Given the description of an element on the screen output the (x, y) to click on. 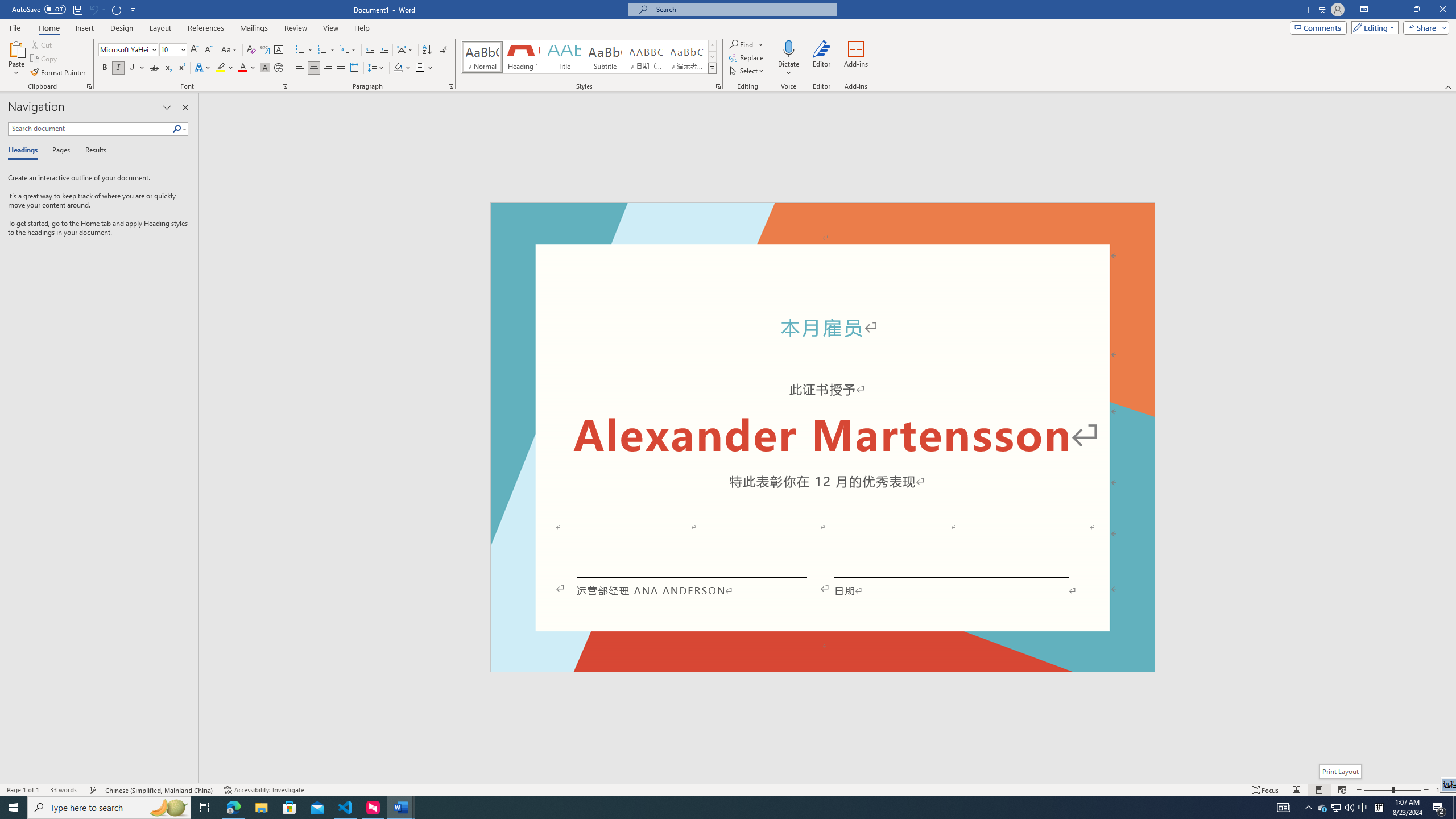
AutomationID: QuickStylesGallery (588, 56)
Header -Section 1- (822, 216)
Font Color Red (241, 67)
